Given the description of an element on the screen output the (x, y) to click on. 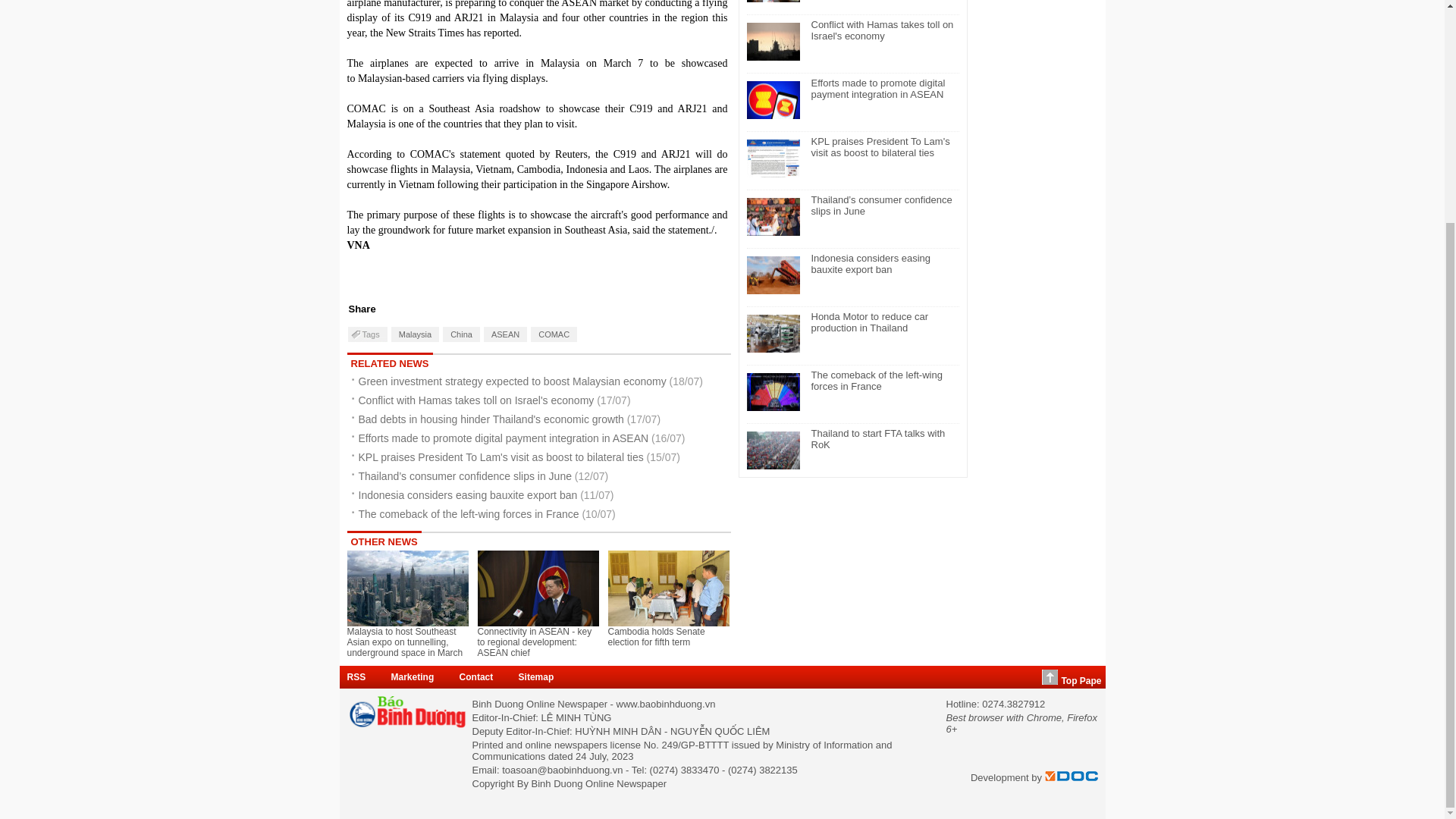
Malaysia (415, 334)
China (461, 334)
ASEAN (505, 334)
ASEAN (505, 334)
RELATED NEWS (389, 362)
China (461, 334)
COMAC (553, 334)
COMAC (553, 334)
Cambodia holds Senate election for fifth term (668, 588)
Malaysia (415, 334)
